Given the description of an element on the screen output the (x, y) to click on. 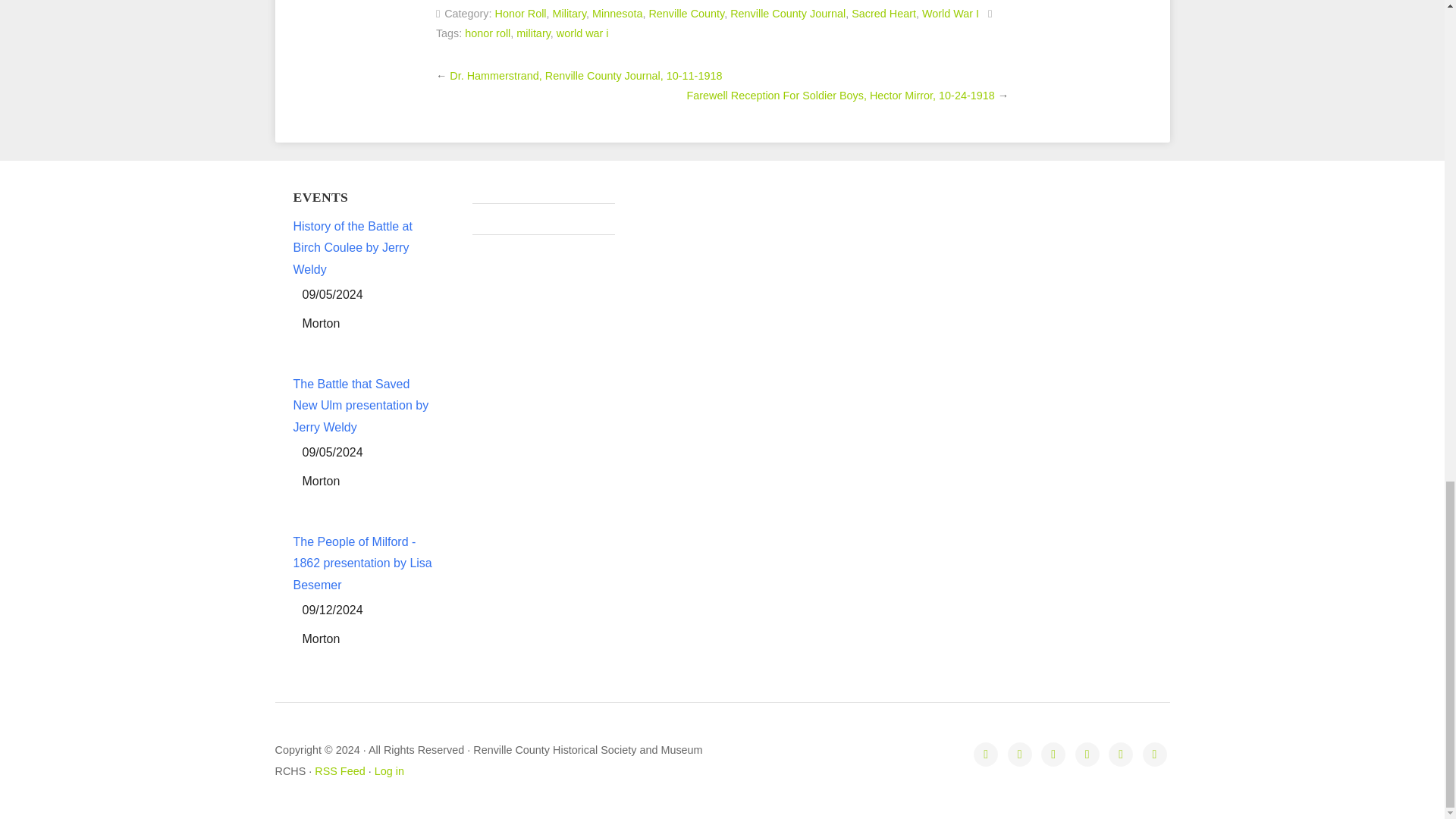
Honor Roll (521, 13)
Sacred Heart (883, 13)
World War I (949, 13)
world war i (582, 33)
Dr. Hammerstrand, Renville County Journal, 10-11-1918 (585, 75)
Renville County Journal (787, 13)
military (533, 33)
Minnesota (617, 13)
honor roll (487, 33)
